Given the description of an element on the screen output the (x, y) to click on. 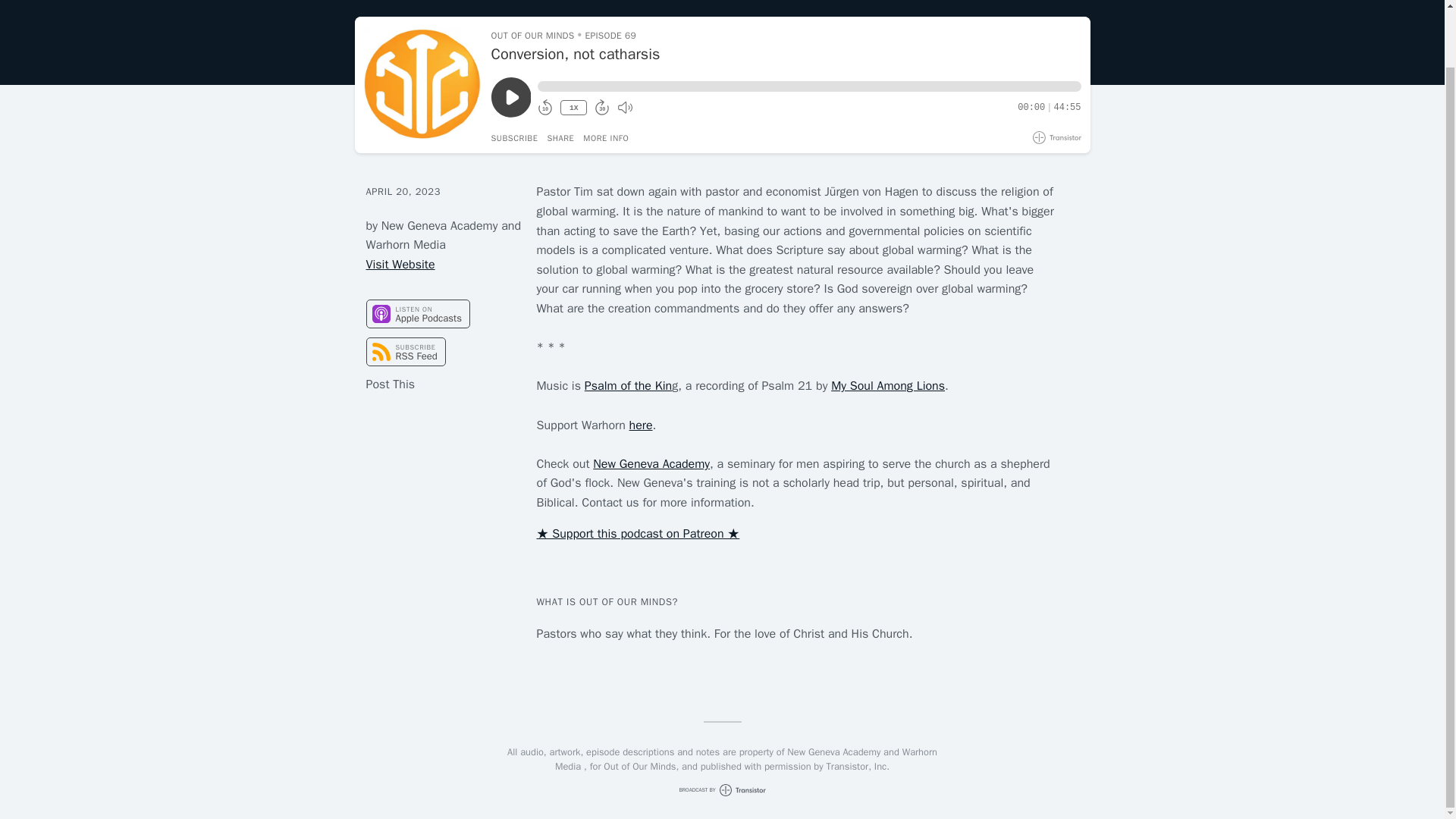
10 (545, 108)
SUBSCRIBE (515, 137)
30 (602, 108)
Visit Transistor.fm - Podcast Hosting and Analytics (1056, 137)
1X (573, 107)
Show subscribe options (515, 137)
Show episode details (605, 137)
MORE INFO (605, 137)
Seek within Episode (808, 86)
Conversion, not catharsis (786, 54)
